Given the description of an element on the screen output the (x, y) to click on. 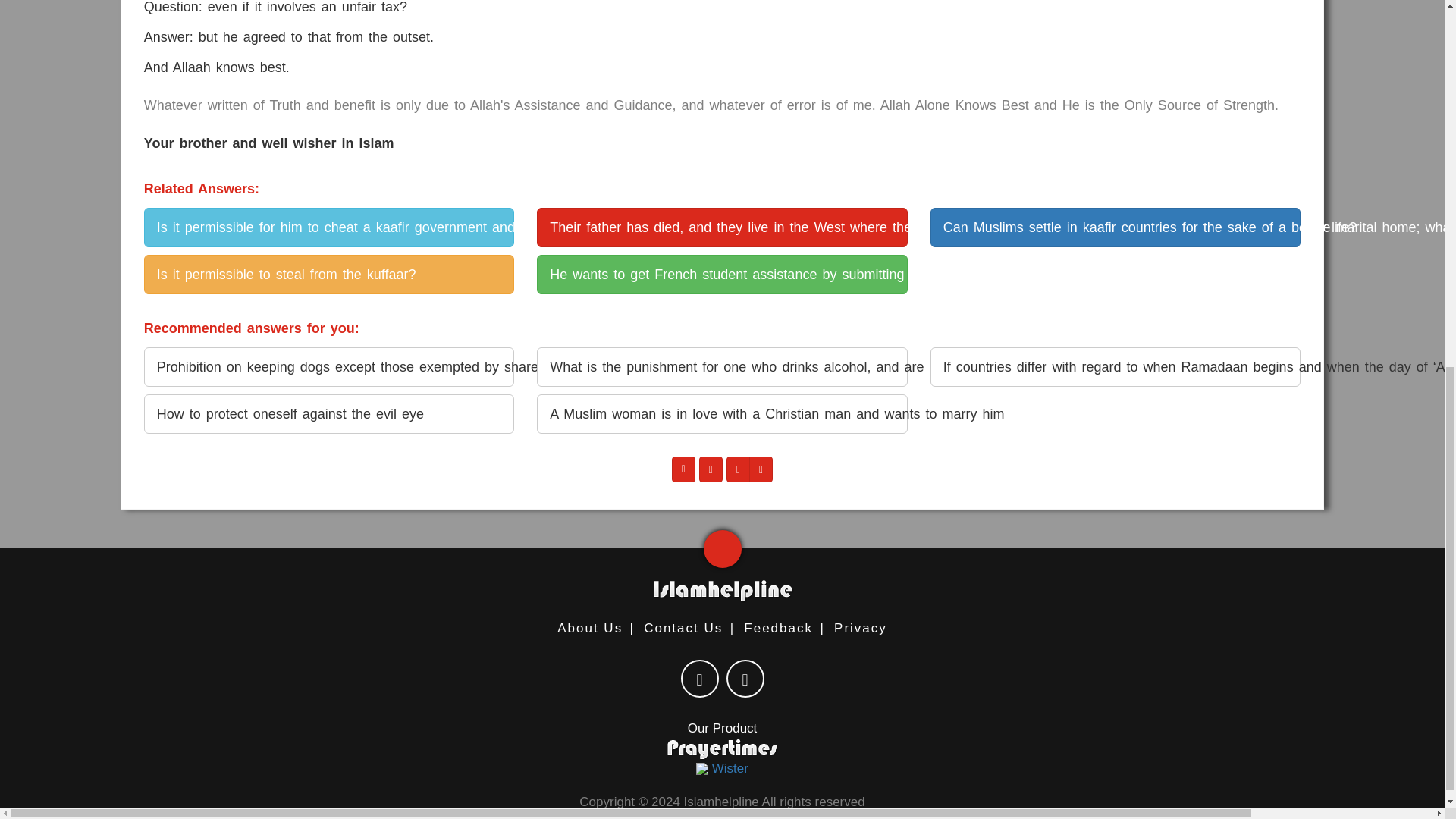
How to protect oneself against the evil eye (328, 413)
Is it permissible to steal from the kuffaar? (328, 274)
